Given the description of an element on the screen output the (x, y) to click on. 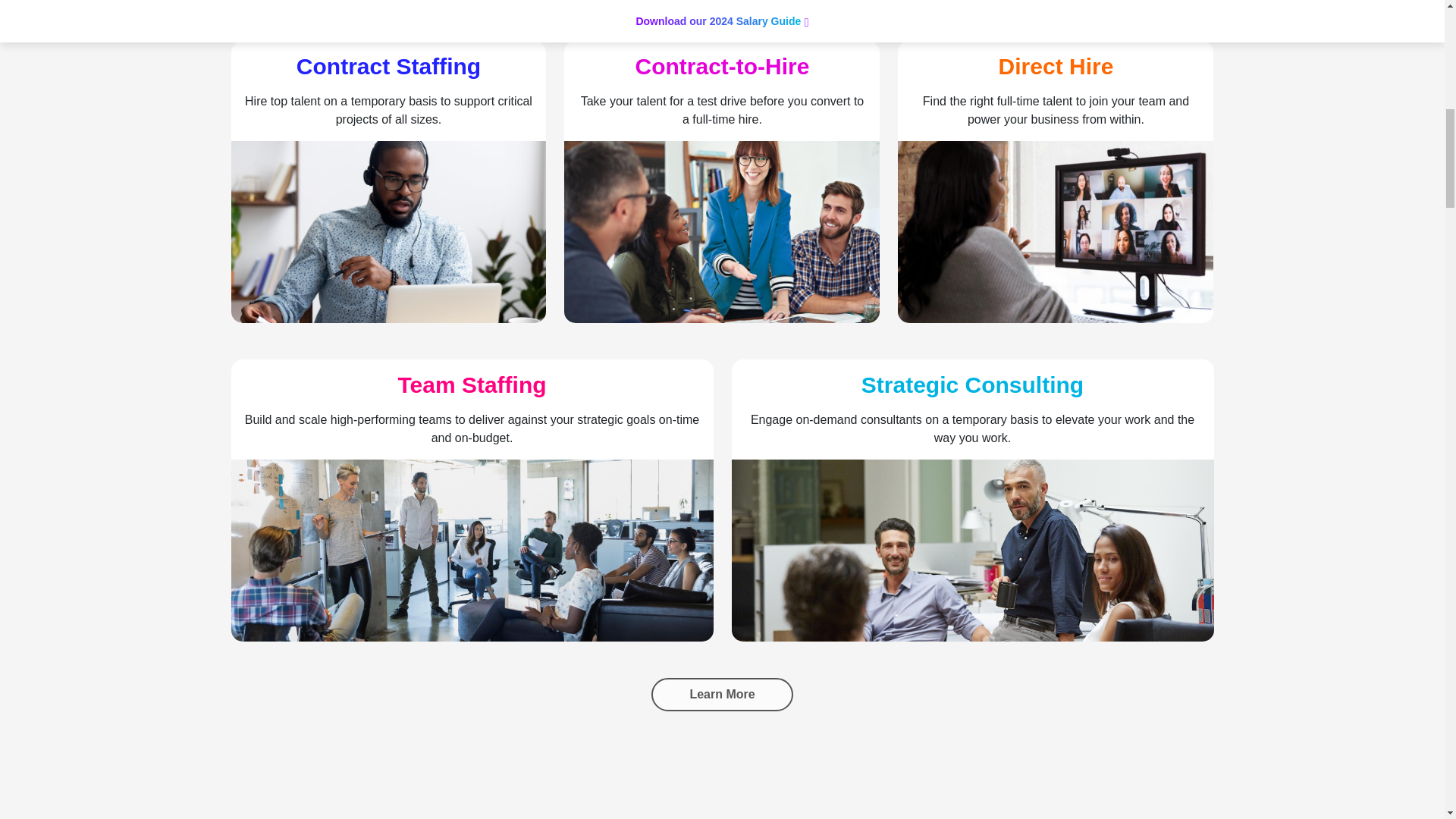
Learn More (721, 694)
